Given the description of an element on the screen output the (x, y) to click on. 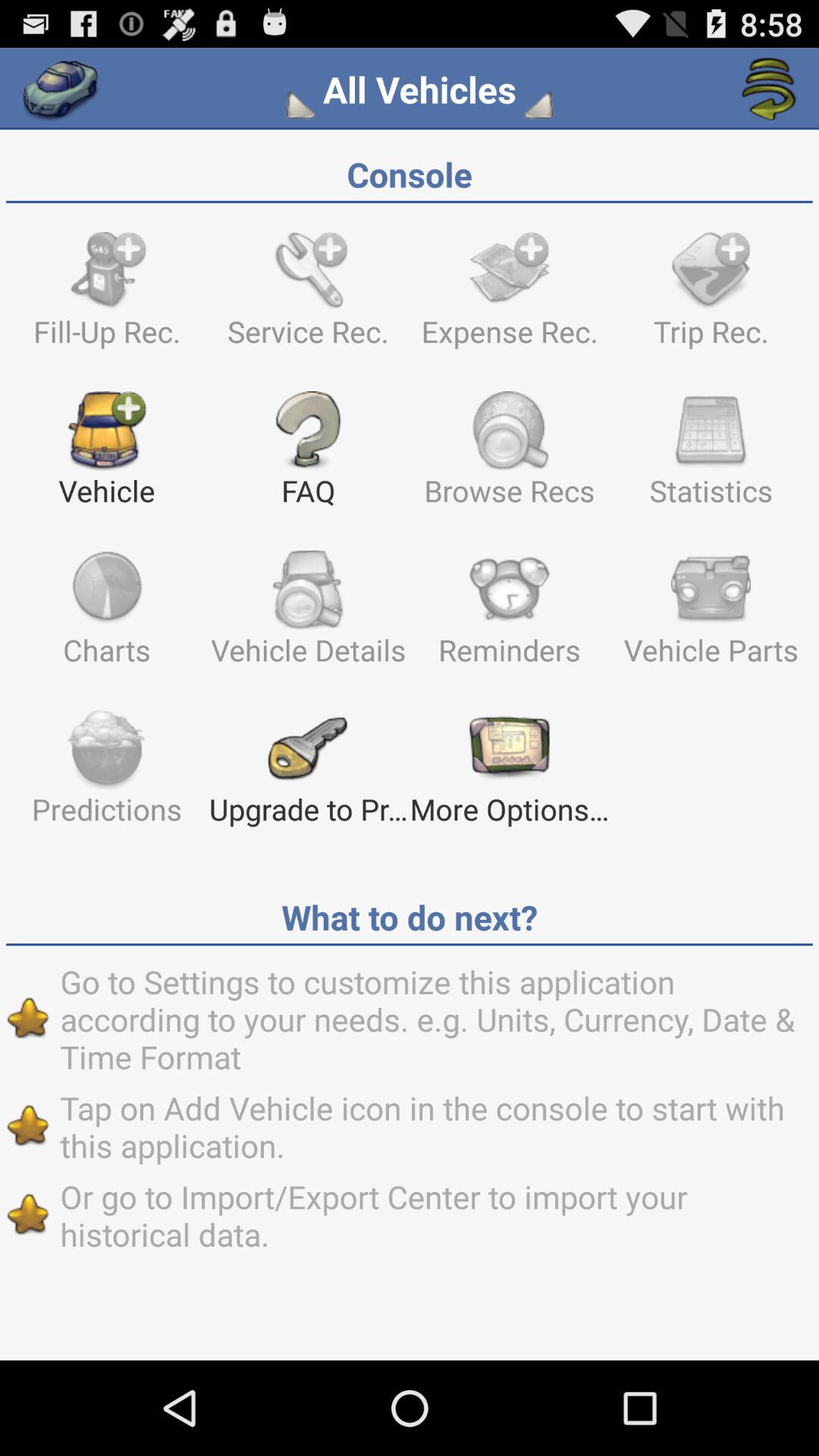
edit filters (303, 105)
